Given the description of an element on the screen output the (x, y) to click on. 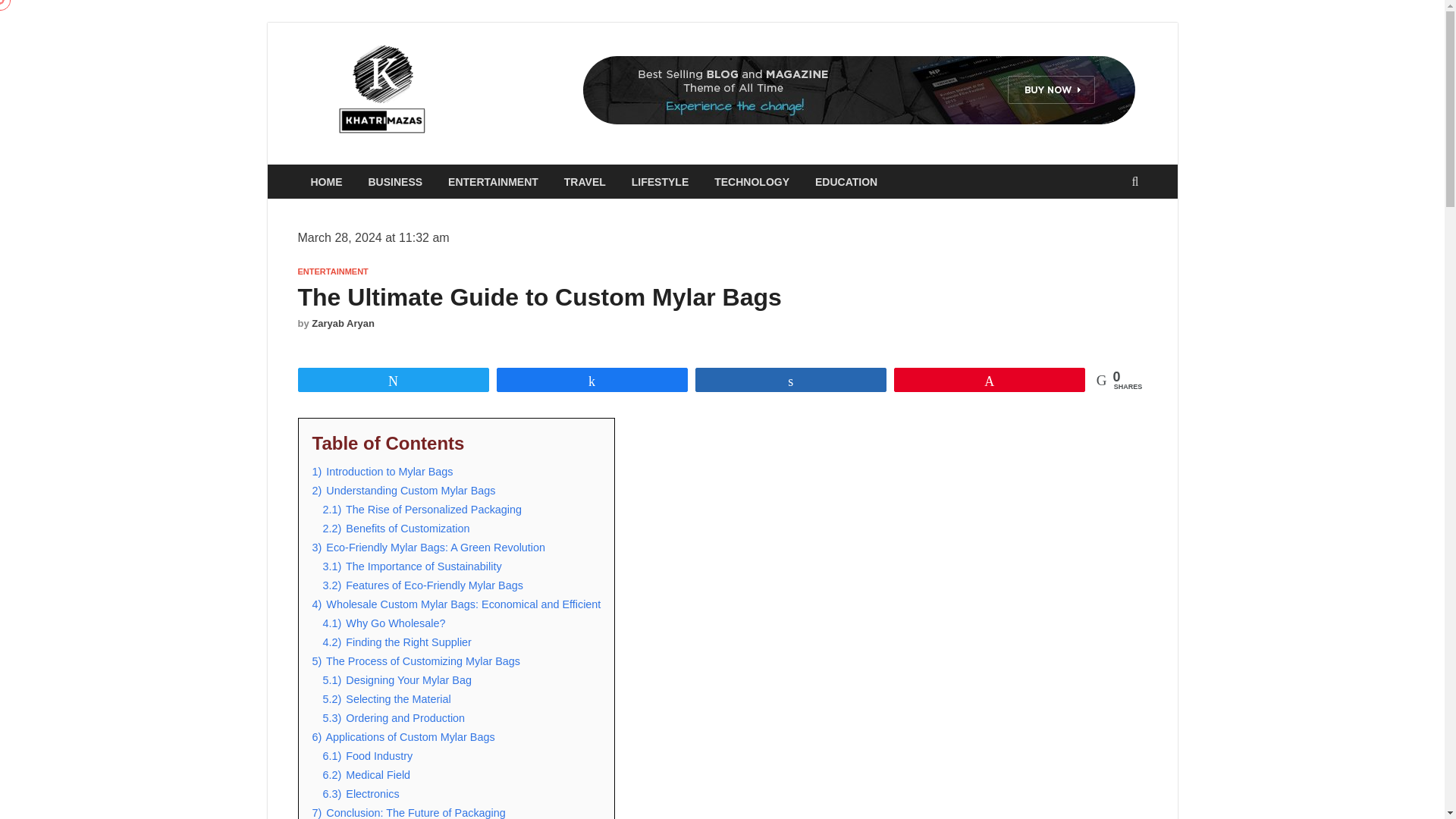
TECHNOLOGY (751, 181)
LIFESTYLE (659, 181)
ENTERTAINMENT (332, 271)
TRAVEL (584, 181)
HOME (326, 181)
Zaryab Aryan (342, 323)
Khatrimazas (522, 74)
BUSINESS (395, 181)
EDUCATION (845, 181)
ENTERTAINMENT (493, 181)
